Given the description of an element on the screen output the (x, y) to click on. 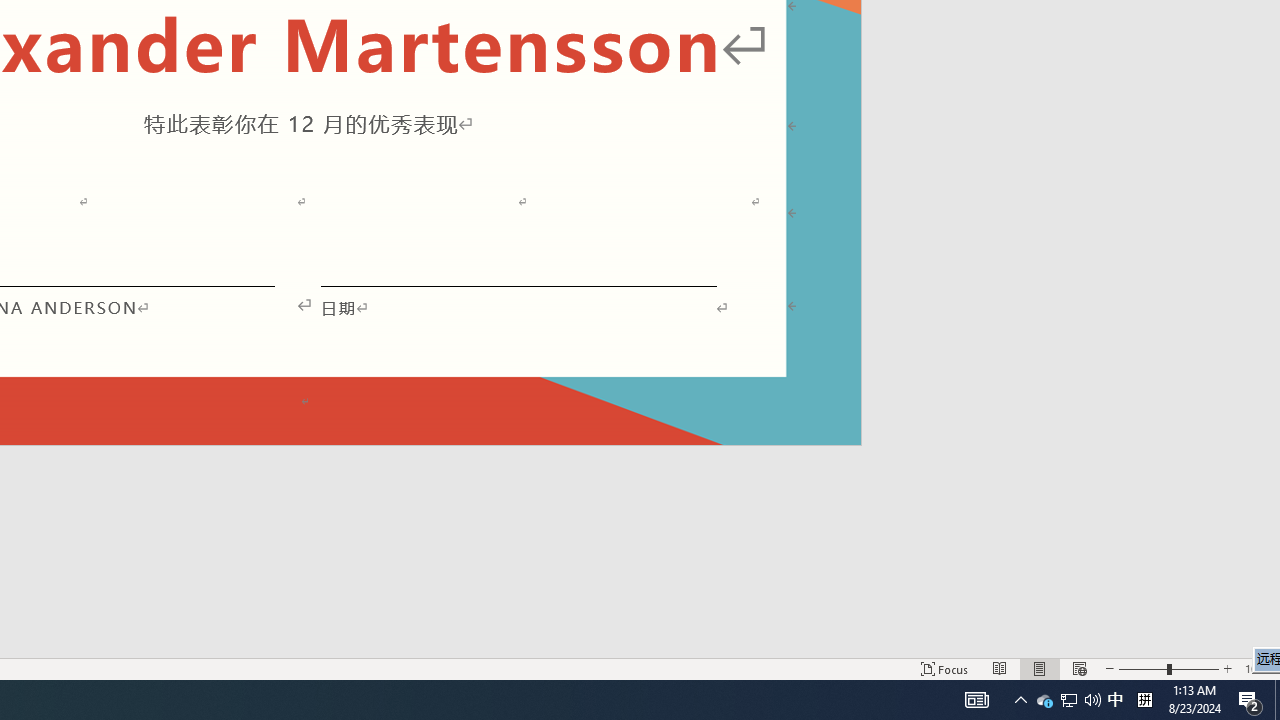
Web Layout (1079, 668)
Zoom (1168, 668)
Read Mode (1000, 668)
Focus  (944, 668)
Zoom In (1227, 668)
Zoom 100% (1258, 668)
Print Layout (1039, 668)
Zoom Out (1142, 668)
